Given the description of an element on the screen output the (x, y) to click on. 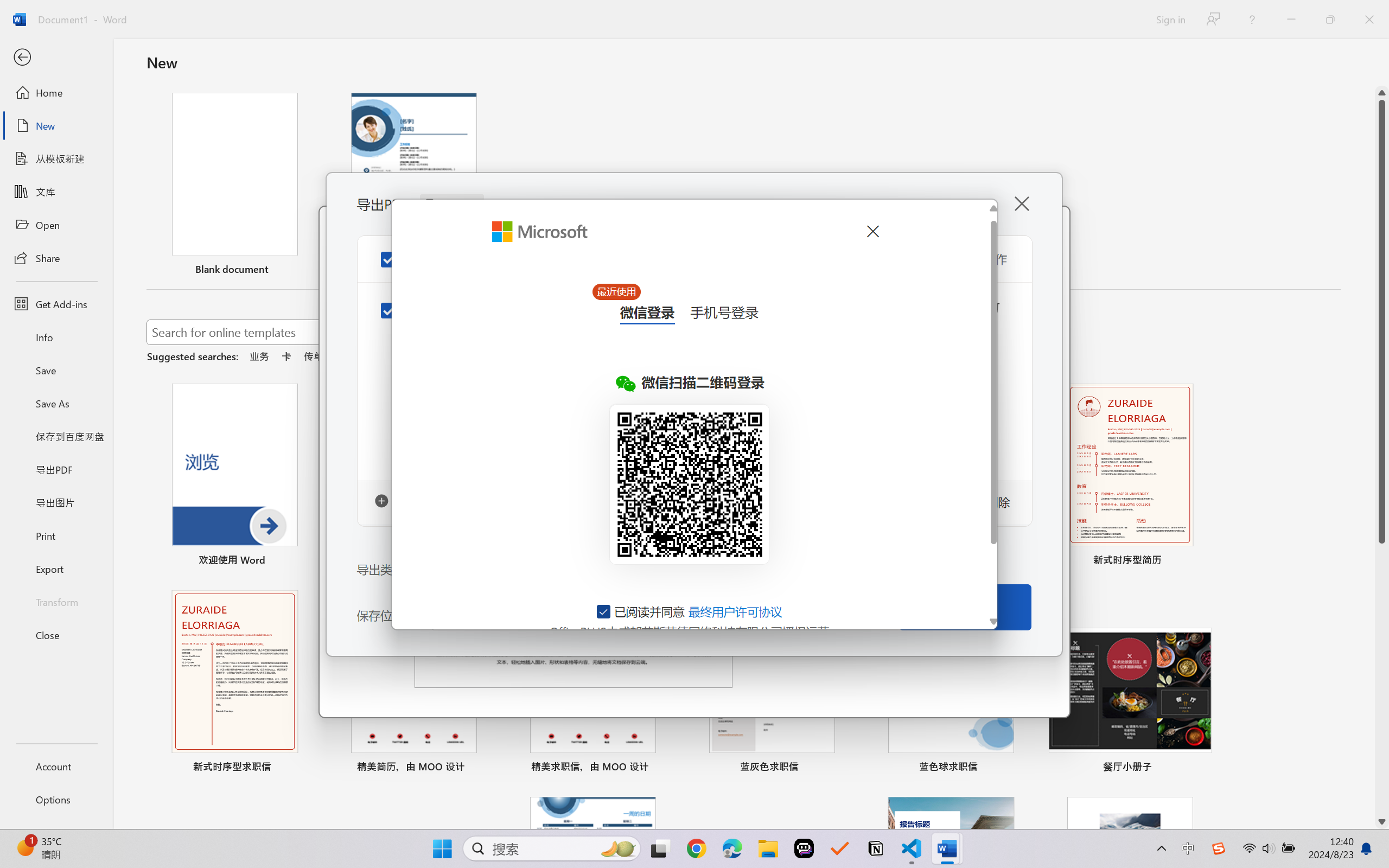
Line down (1382, 821)
Print (56, 535)
